Given the description of an element on the screen output the (x, y) to click on. 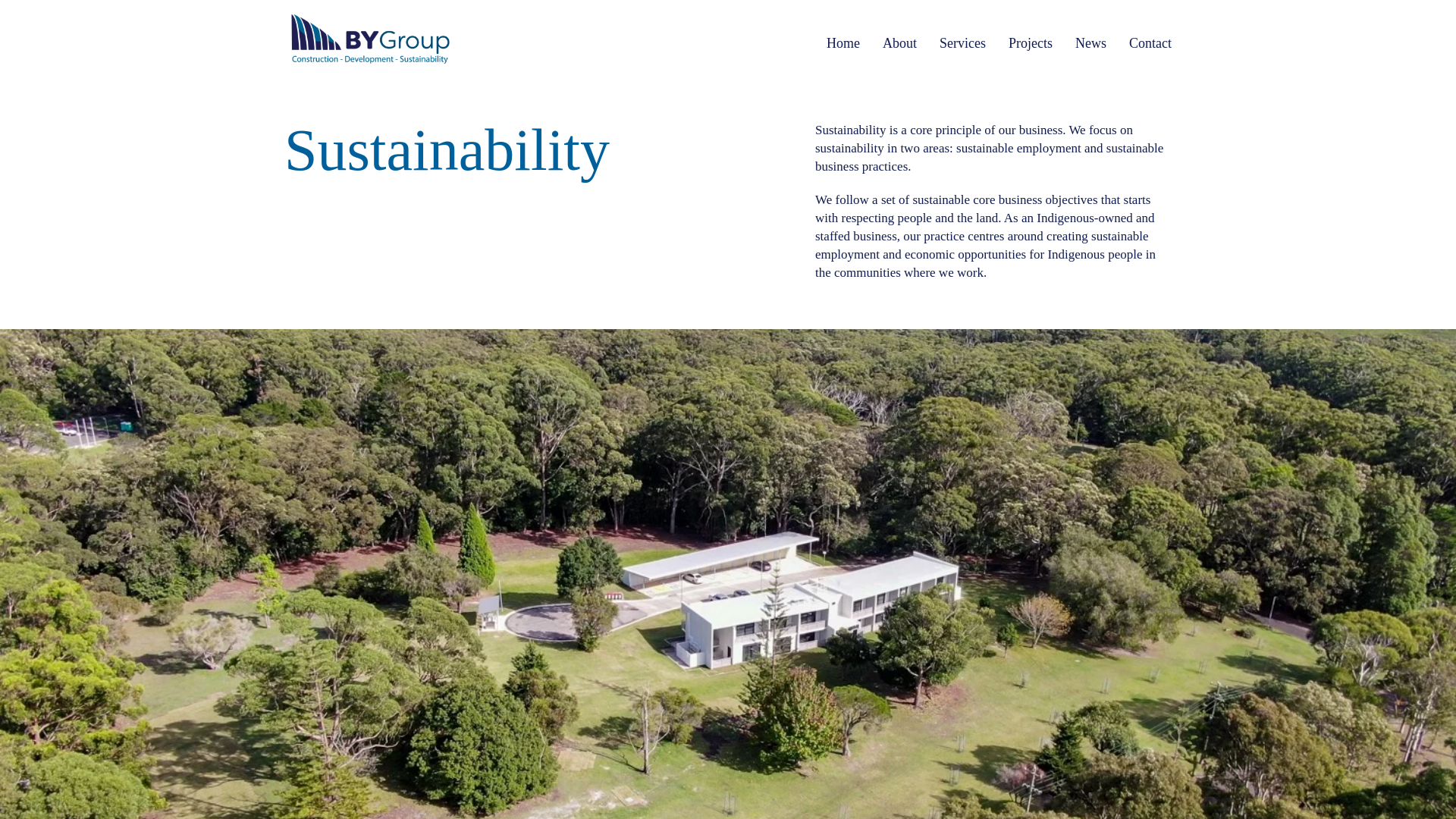
Projects (1030, 43)
Contact (1150, 43)
News (1090, 43)
About (899, 43)
Home (843, 43)
Services (962, 43)
